Given the description of an element on the screen output the (x, y) to click on. 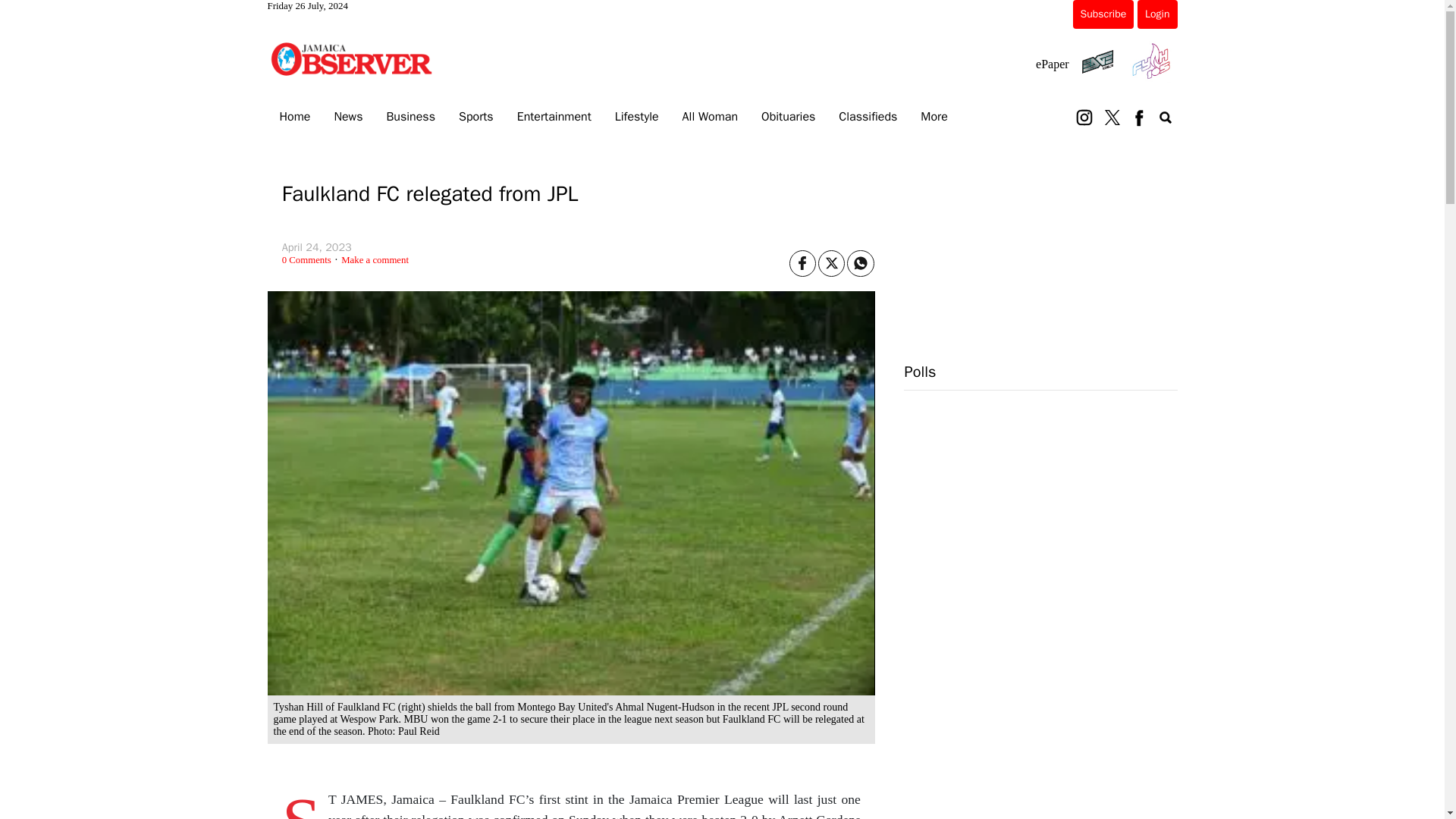
ePaper (1051, 64)
Login (1156, 14)
Subscribe (1103, 14)
